Given the description of an element on the screen output the (x, y) to click on. 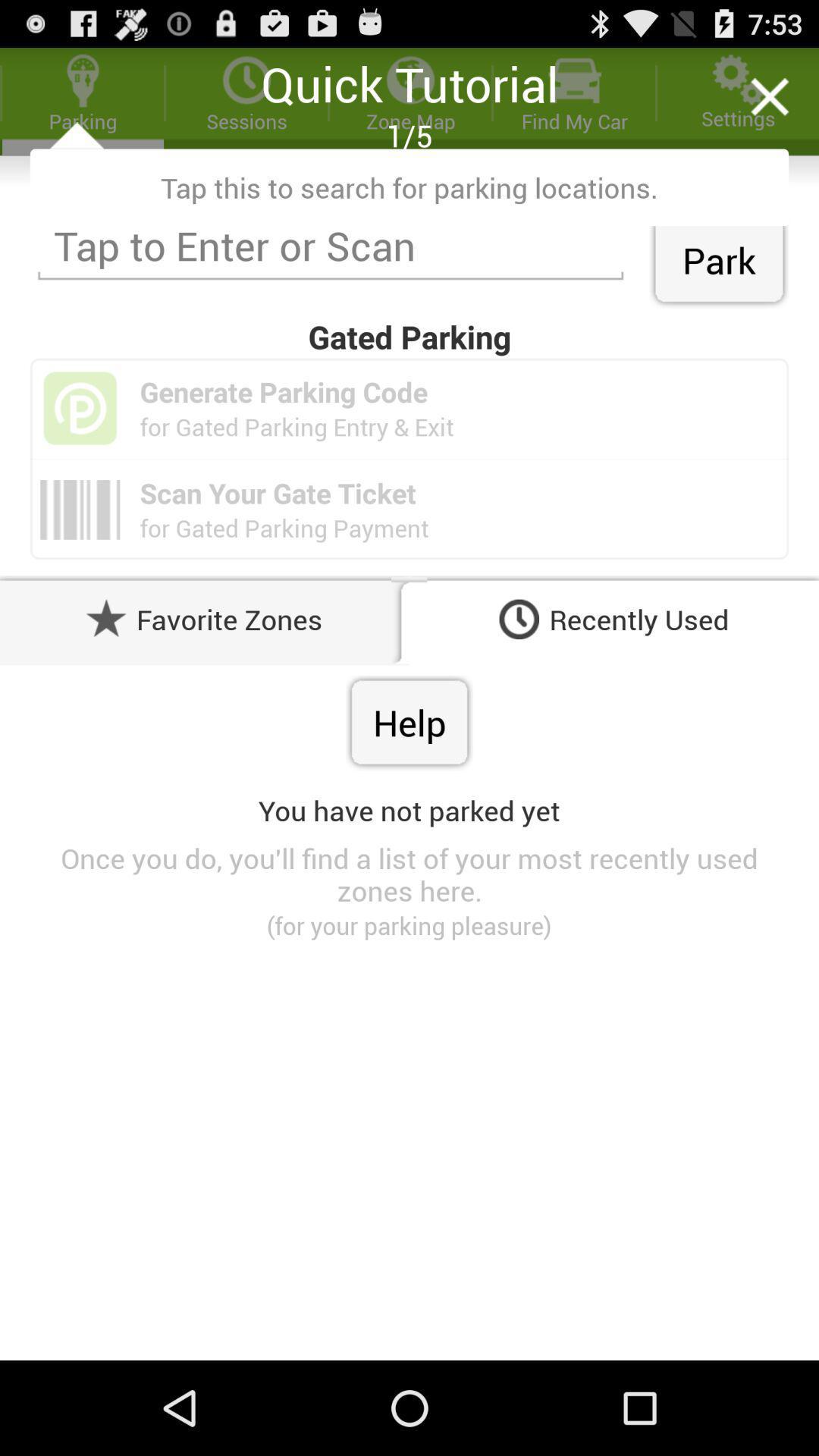
select tu which is above 15 on the page (410, 79)
click on x which is on the top right corner (769, 97)
